Given the description of an element on the screen output the (x, y) to click on. 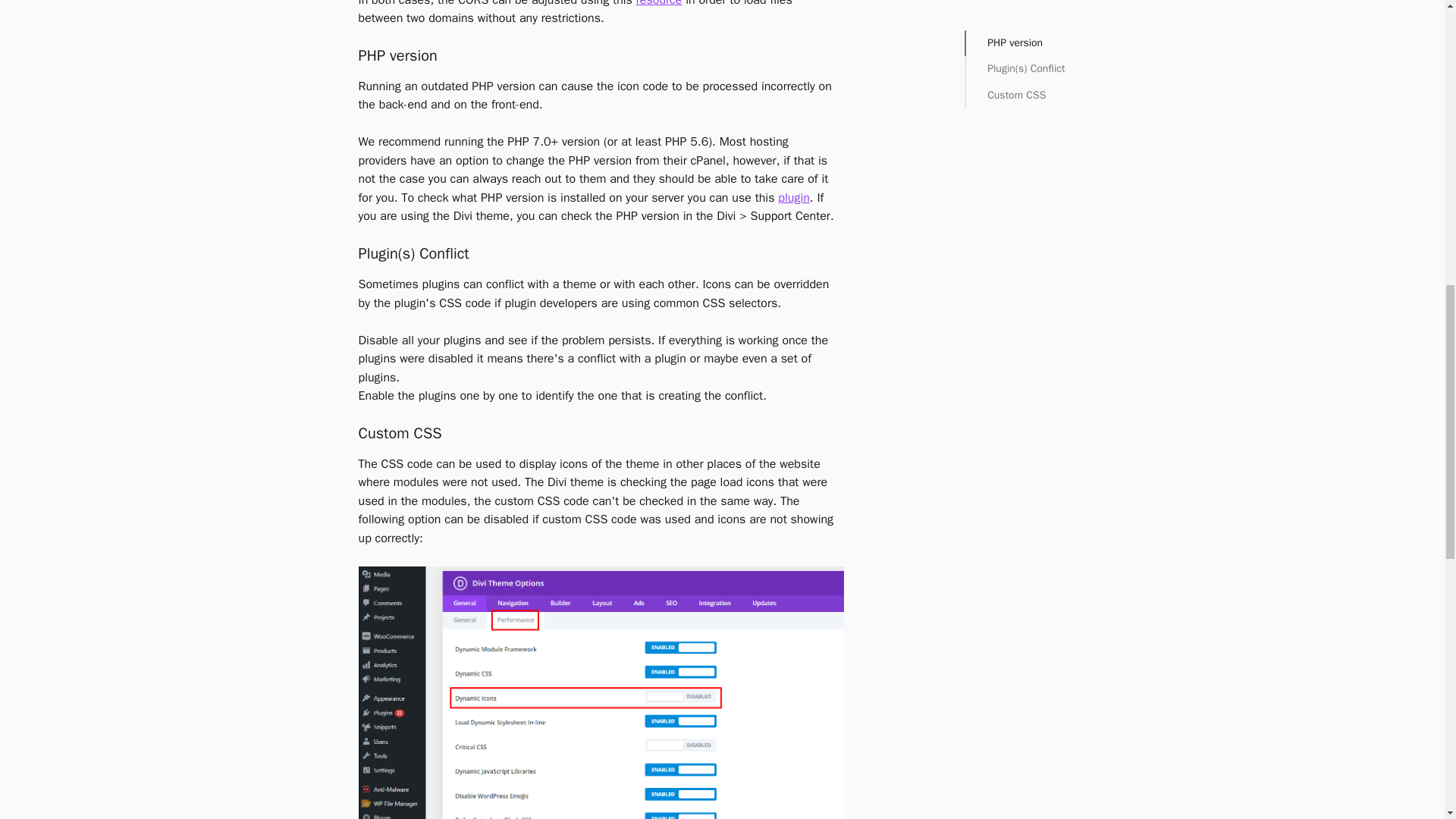
plugin (793, 197)
resource (659, 3)
